Given the description of an element on the screen output the (x, y) to click on. 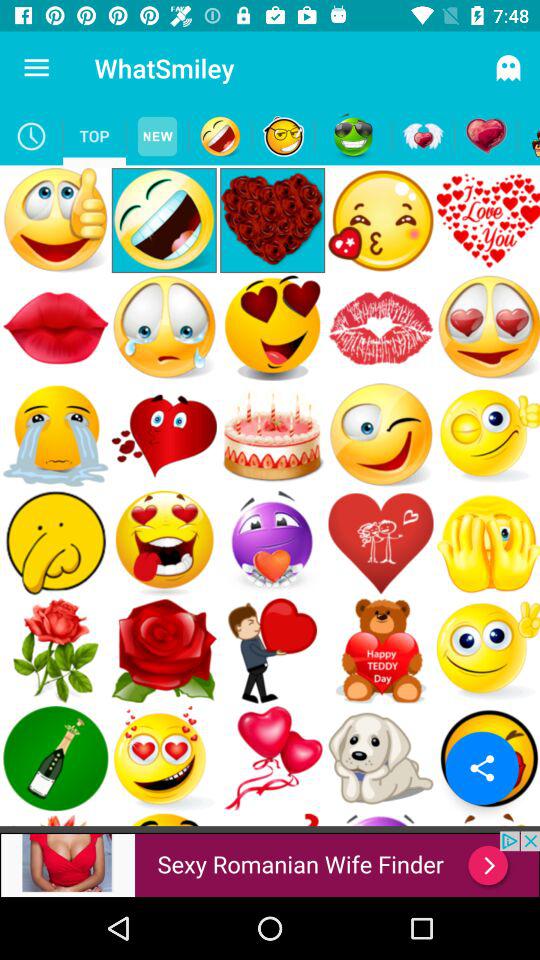
emoji (220, 136)
